Given the description of an element on the screen output the (x, y) to click on. 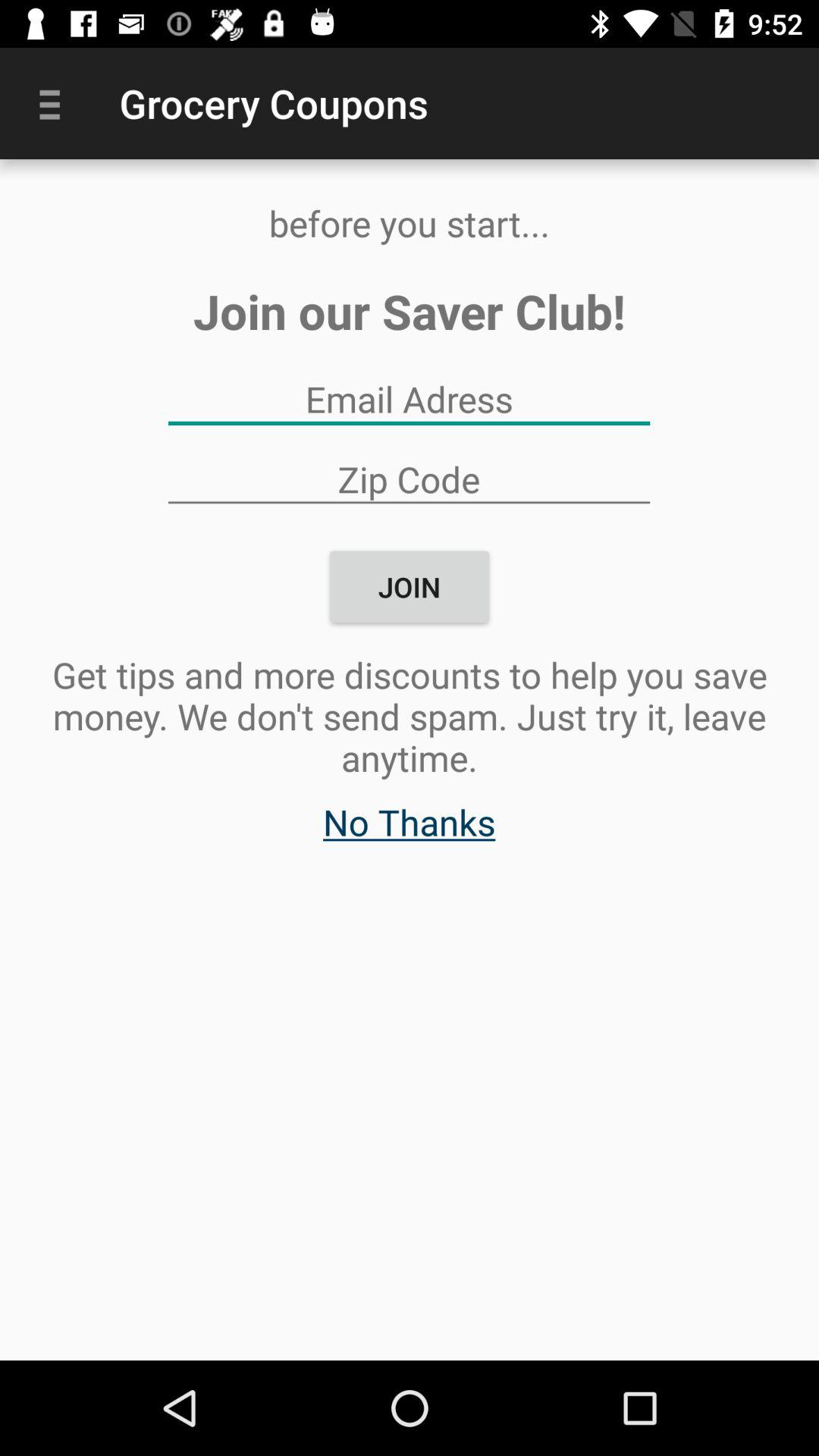
launch the app below the get tips and item (409, 829)
